Given the description of an element on the screen output the (x, y) to click on. 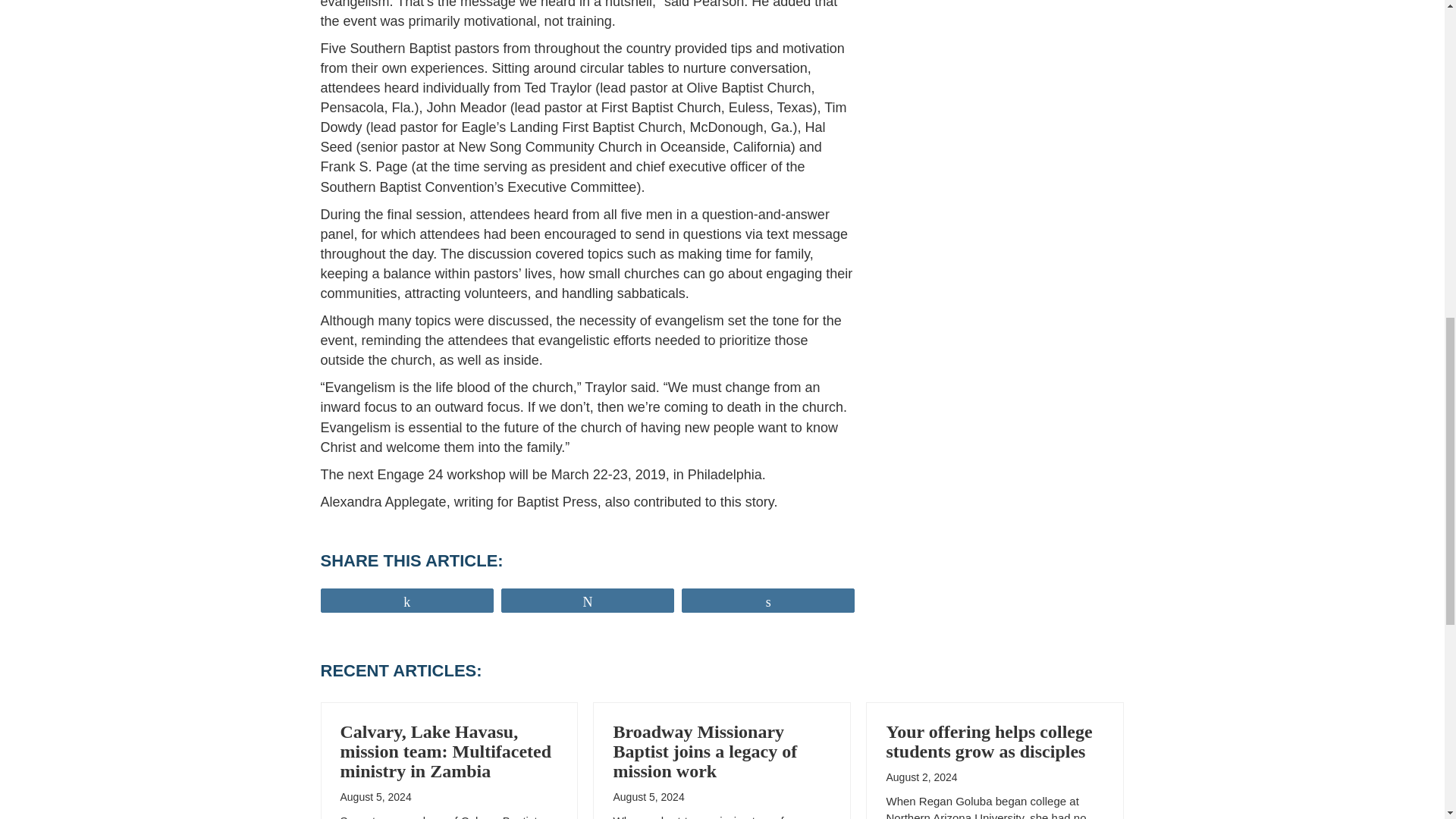
Your offering helps college students grow as disciples (988, 741)
Broadway Missionary Baptist joins a legacy of mission work (704, 751)
